Given the description of an element on the screen output the (x, y) to click on. 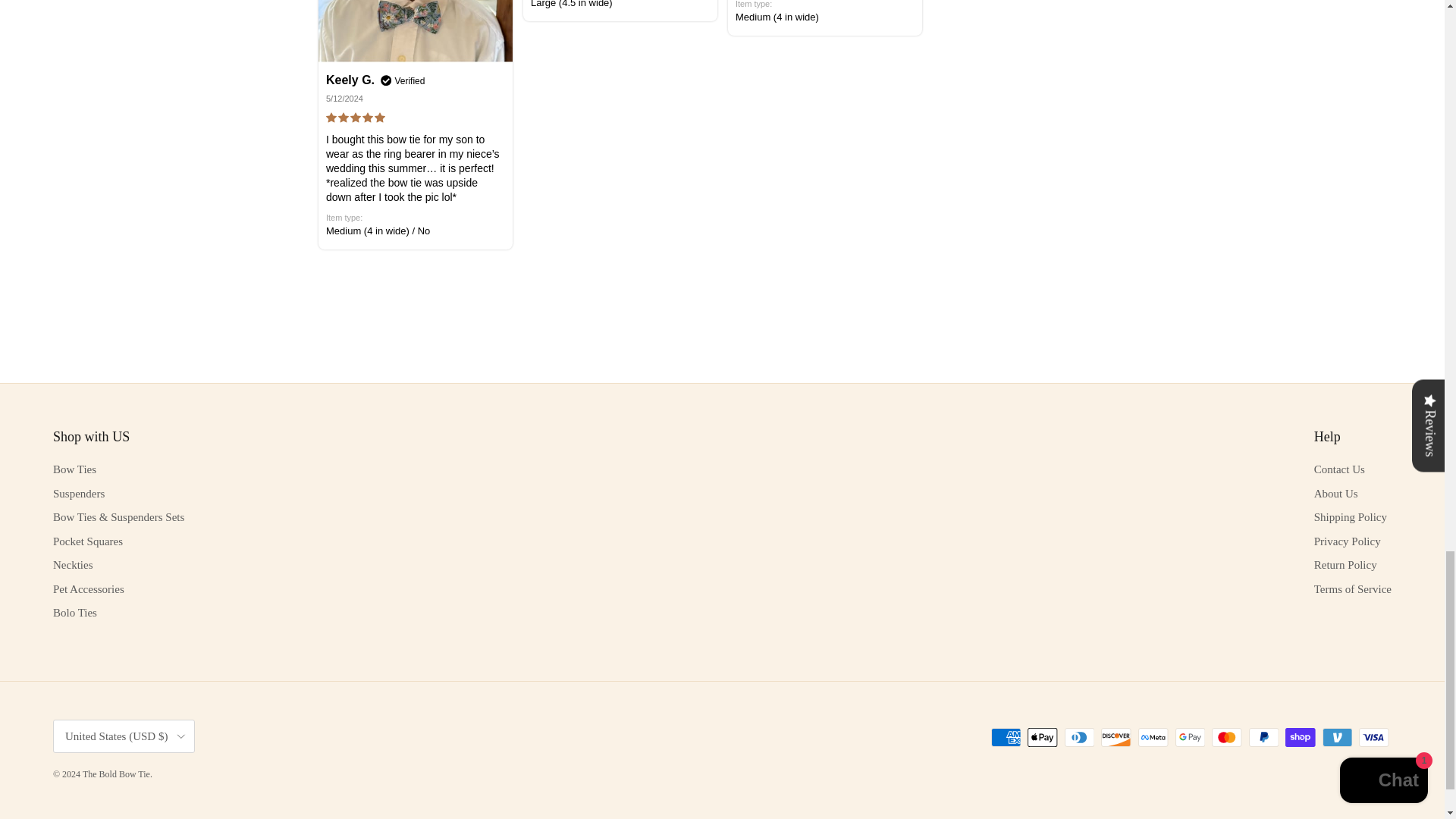
Meta Pay (1152, 737)
American Express (1005, 737)
Diners Club (1079, 737)
Discover (1115, 737)
Apple Pay (1042, 737)
